Given the description of an element on the screen output the (x, y) to click on. 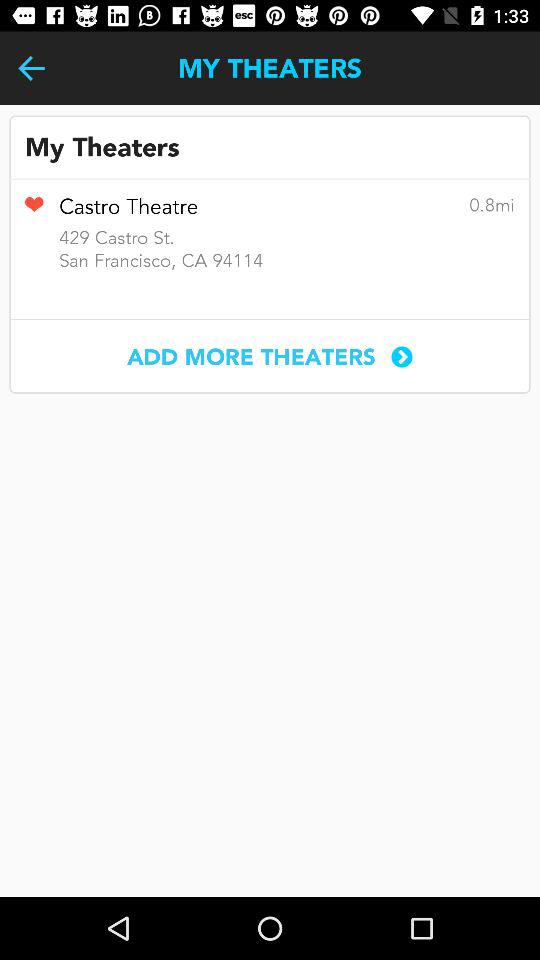
previous page (31, 67)
